Given the description of an element on the screen output the (x, y) to click on. 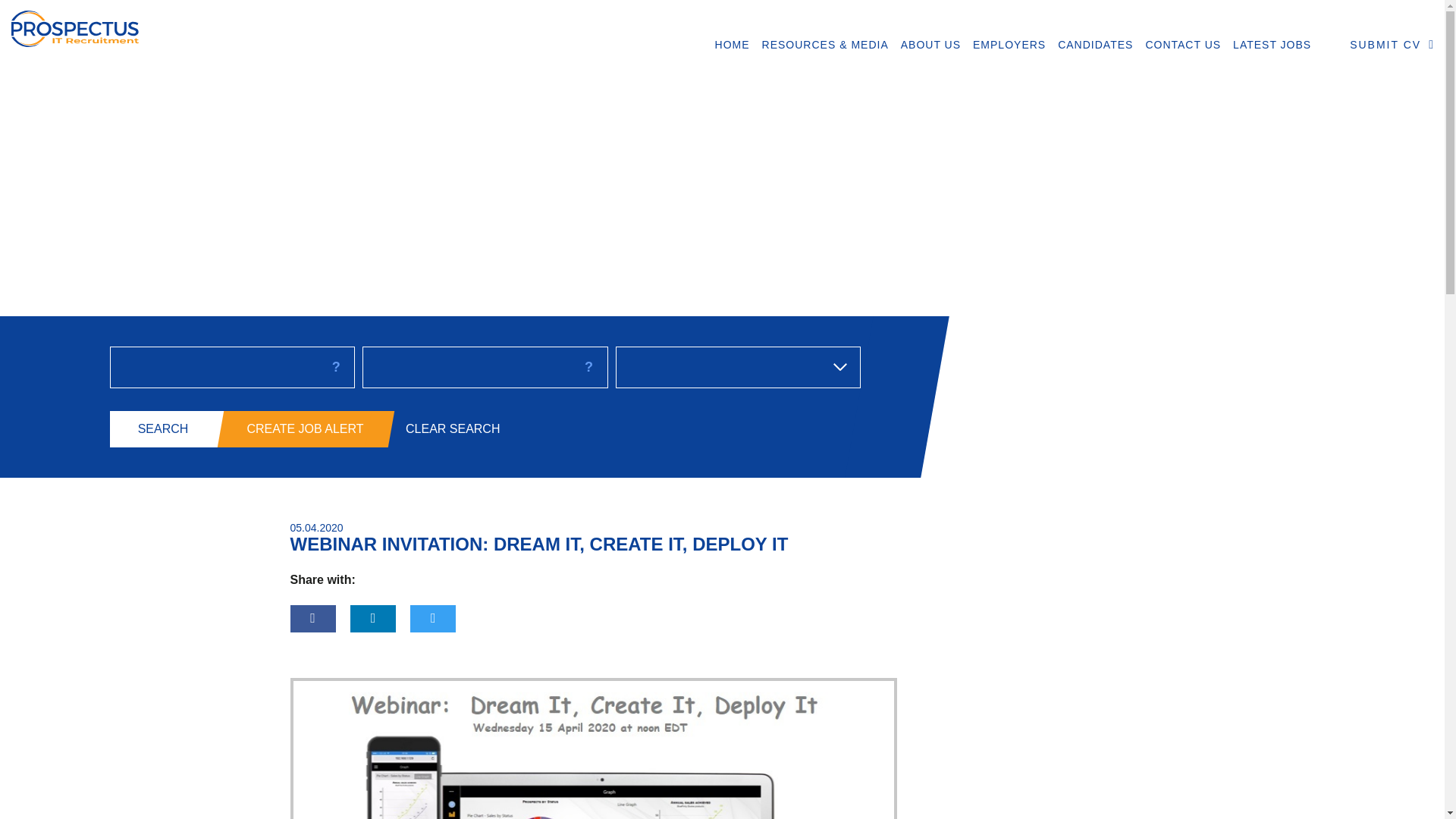
CREATE JOB ALERT (301, 429)
help (335, 366)
Clear Search (452, 429)
ABOUT US (930, 44)
help (588, 366)
Prospectus IT Recruitment (180, 25)
Share with LinkedIn (373, 618)
? (588, 366)
HOME (732, 44)
LATEST JOBS (1272, 44)
